Given the description of an element on the screen output the (x, y) to click on. 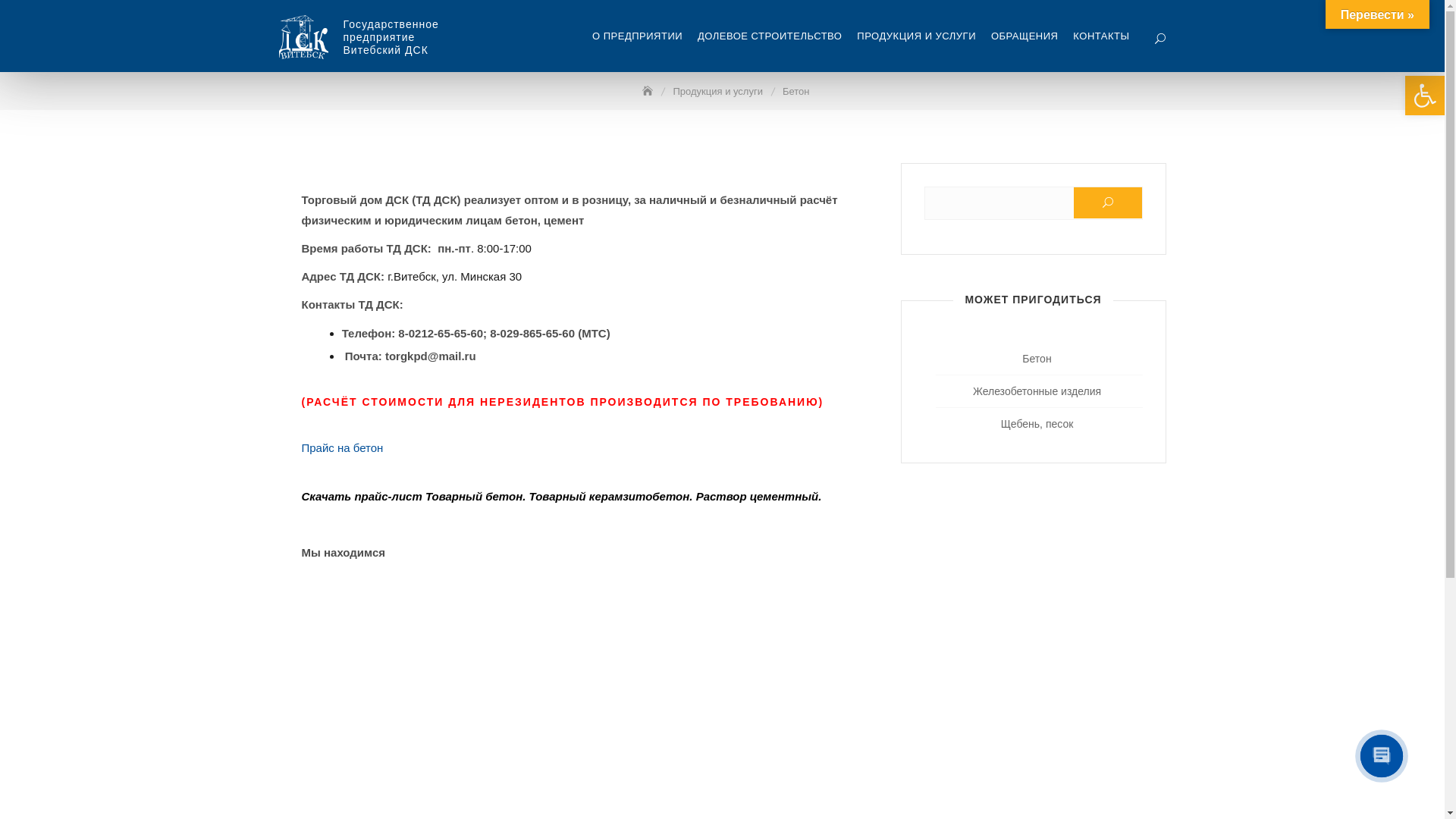
Skip to content Element type: text (0, 0)
